Given the description of an element on the screen output the (x, y) to click on. 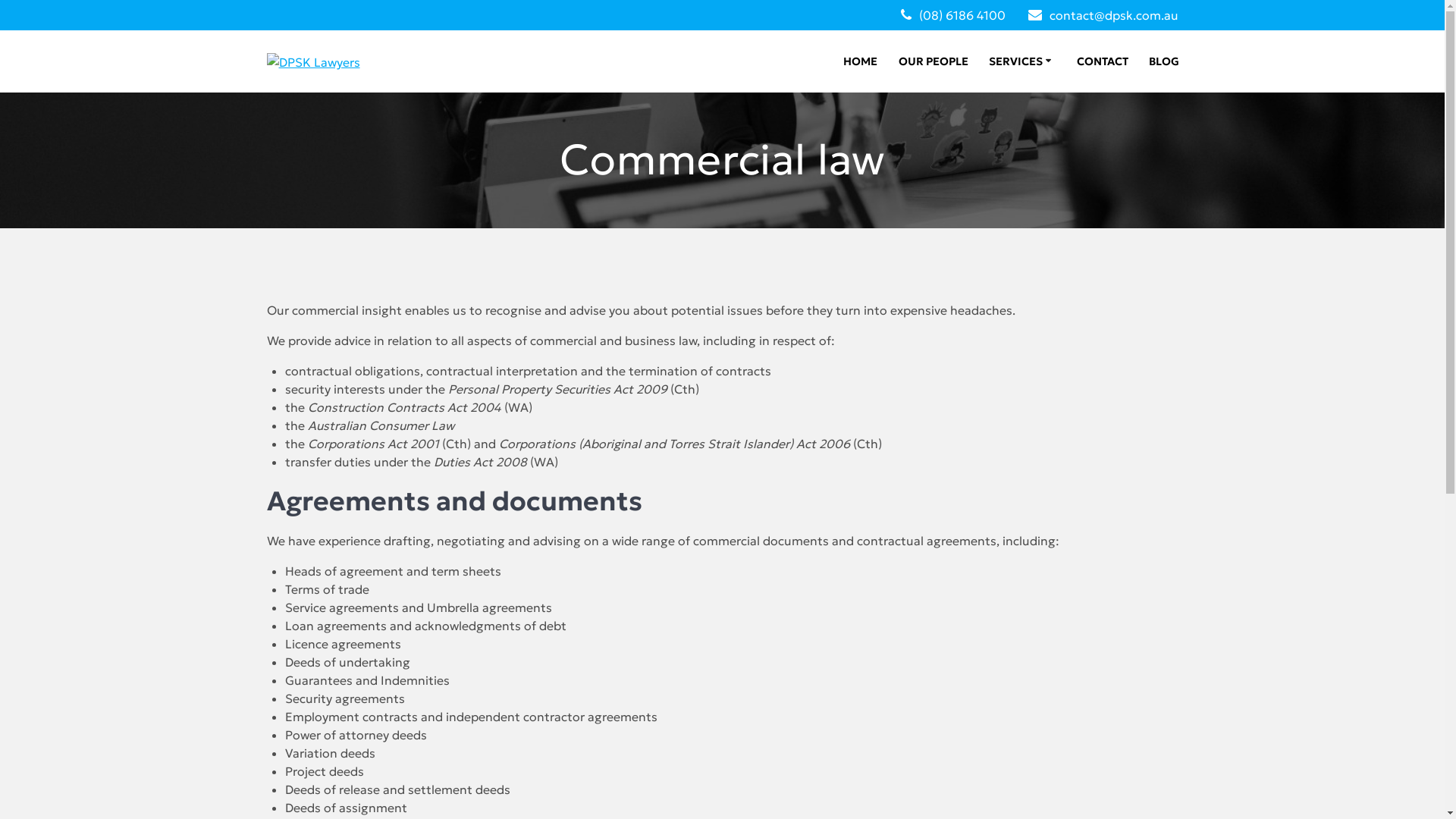
CONTACT Element type: text (1102, 61)
SERVICES Element type: text (1022, 61)
OUR PEOPLE Element type: text (933, 61)
BLOG Element type: text (1163, 61)
HOME Element type: text (860, 61)
